Given the description of an element on the screen output the (x, y) to click on. 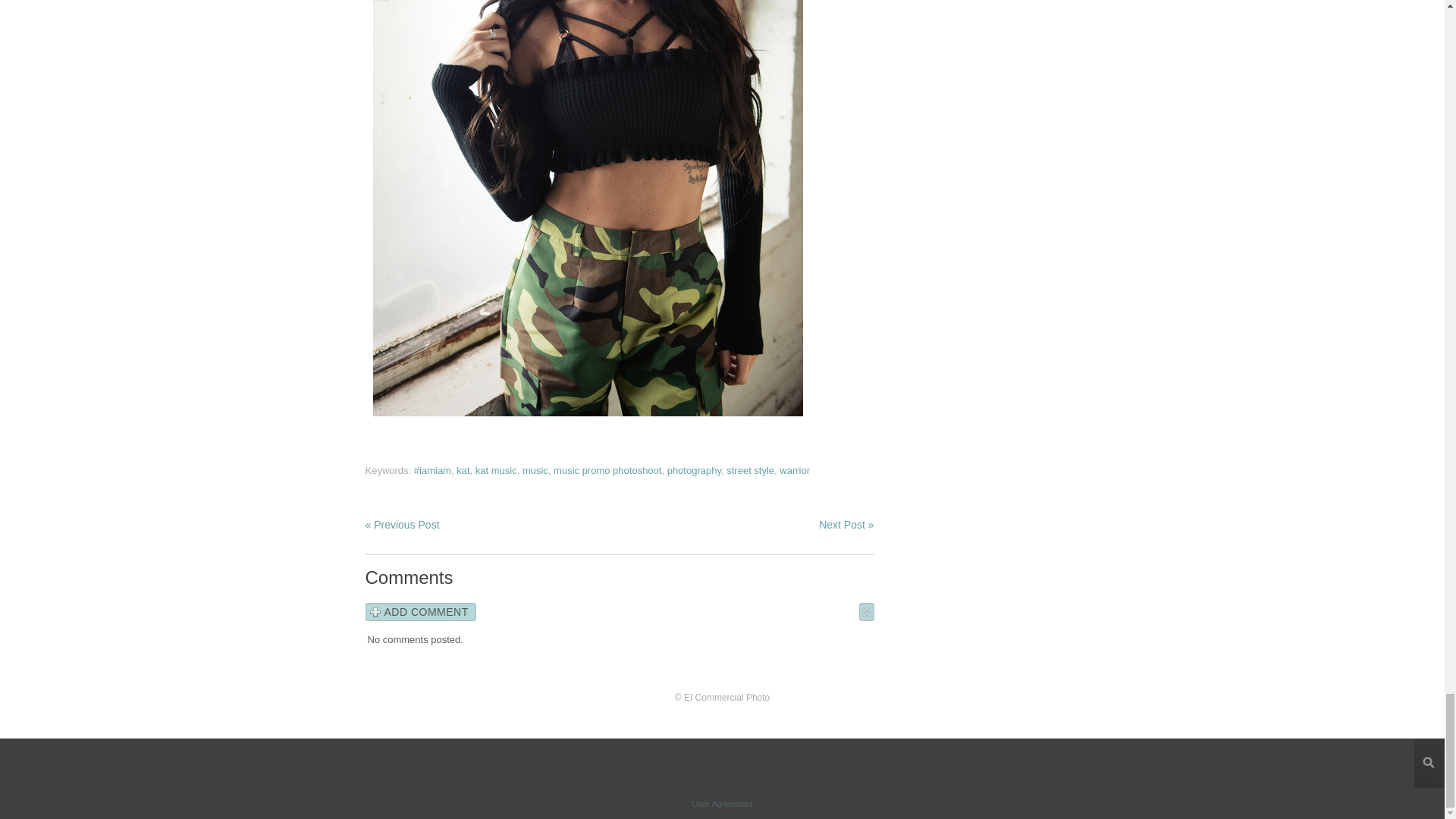
kat music (496, 470)
kat (462, 470)
warrior (793, 470)
street style (750, 470)
ADD COMMENT (420, 611)
music promo photoshoot (607, 470)
music (535, 470)
photography (693, 470)
